Given the description of an element on the screen output the (x, y) to click on. 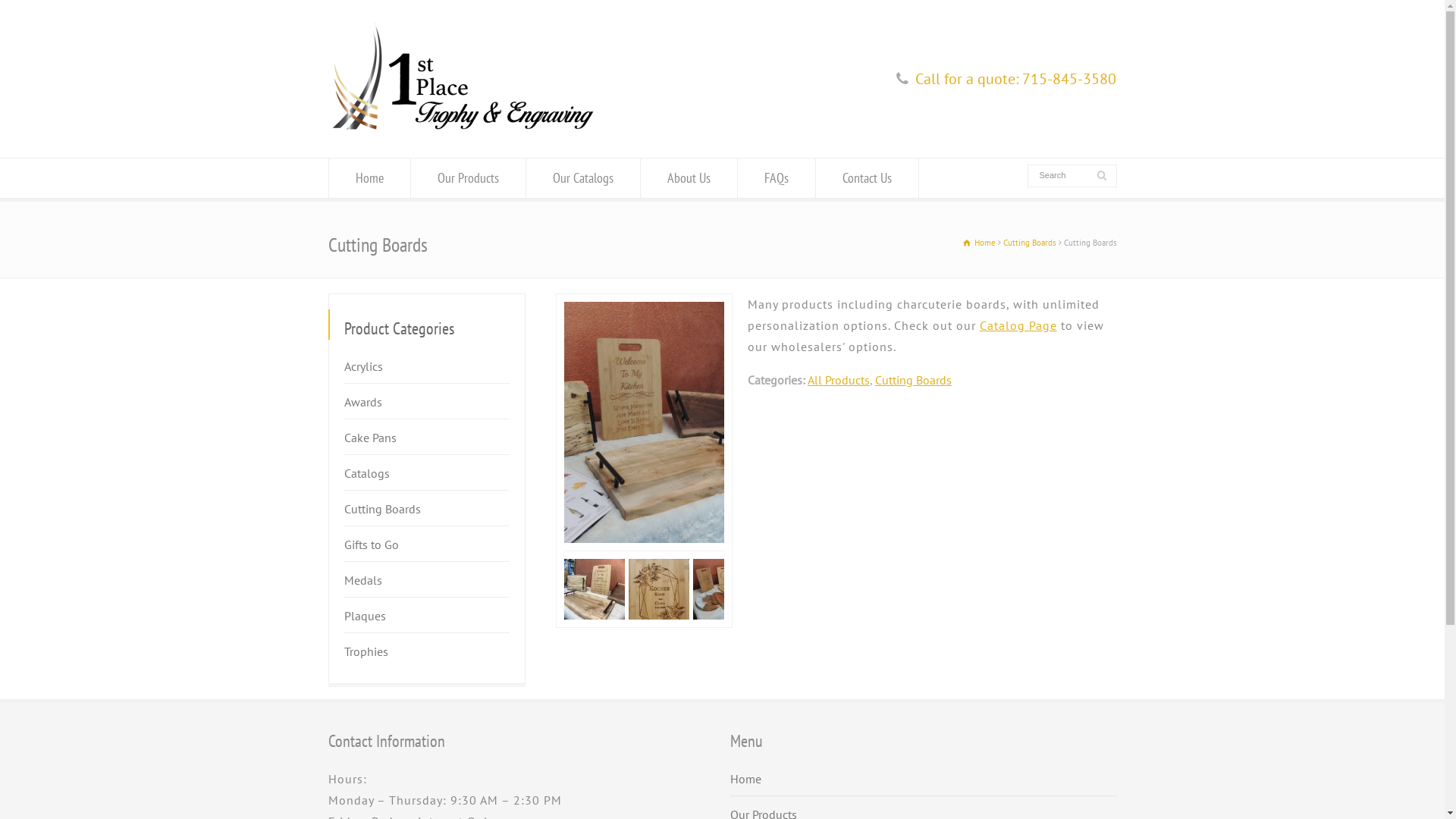
FAQs Element type: text (775, 177)
Home Element type: text (979, 242)
Cutting Boards Element type: text (382, 512)
Plaques Element type: text (364, 619)
About Us Element type: text (688, 177)
Our Products Element type: text (468, 177)
Our Catalogs Element type: text (583, 177)
Gifts to Go Element type: text (371, 548)
All Products Element type: text (838, 379)
Home Element type: text (369, 177)
1st Place Trophy & Engraving Element type: hover (463, 127)
Call for a quote: 715-845-3580 Element type: text (1015, 78)
Catalog Page Element type: text (1018, 324)
Awards Element type: text (363, 405)
Trophies Element type: text (366, 655)
Cake Pans Element type: text (370, 441)
Cutting Boards Element type: text (913, 379)
Catalogs Element type: text (366, 476)
Acrylics Element type: text (363, 369)
Contact Us Element type: text (866, 177)
Home Element type: text (744, 782)
Medals Element type: text (363, 583)
Cutting Boards Element type: text (1028, 242)
